Given the description of an element on the screen output the (x, y) to click on. 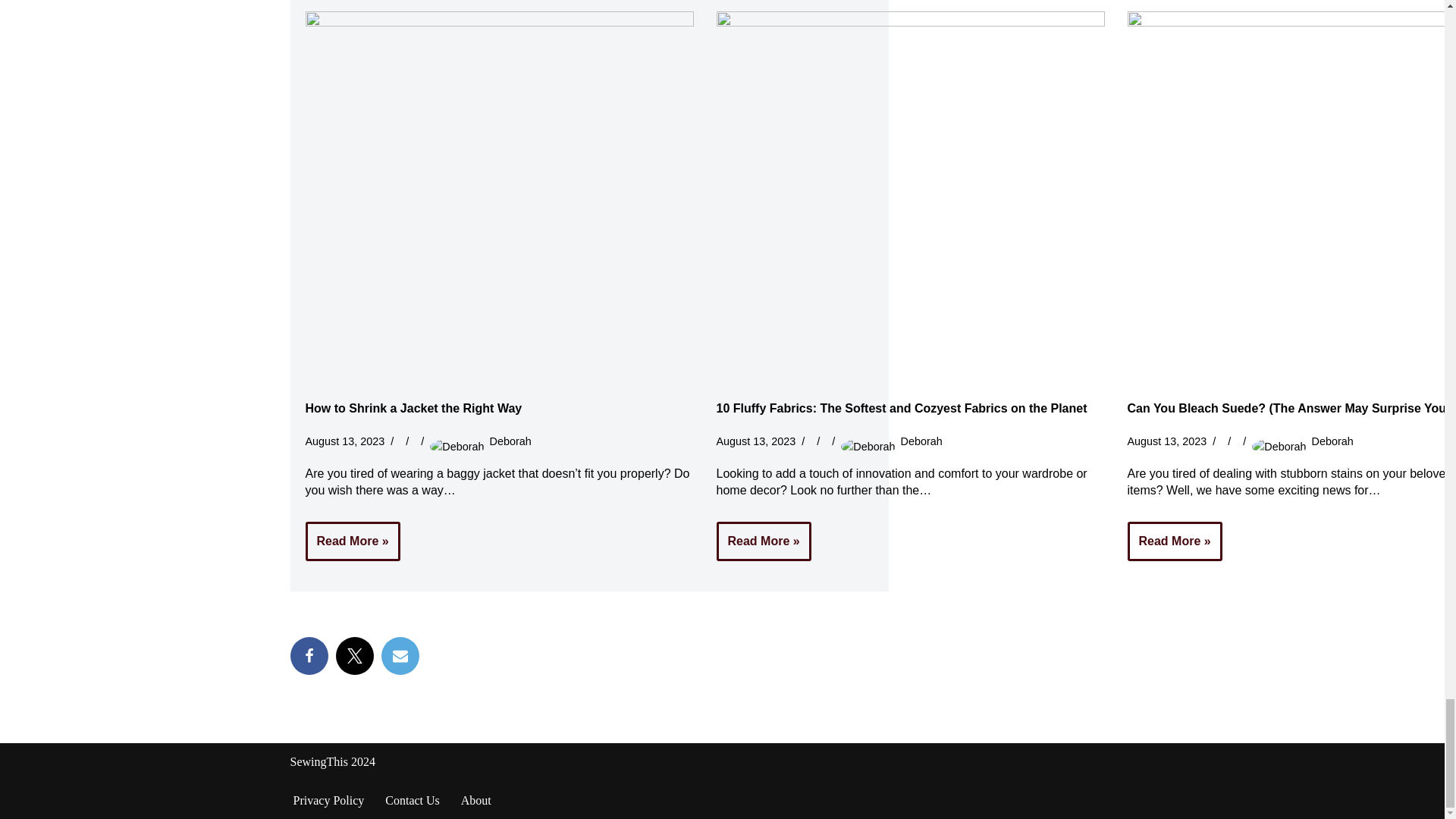
Deborah (510, 440)
Posts by Deborah (510, 440)
Posts by Deborah (1332, 440)
X (353, 655)
How to Shrink a Jacket the Right Way (412, 408)
Deborah (921, 440)
Deborah (1332, 440)
Facebook (308, 655)
Email (399, 655)
Posts by Deborah (921, 440)
